Given the description of an element on the screen output the (x, y) to click on. 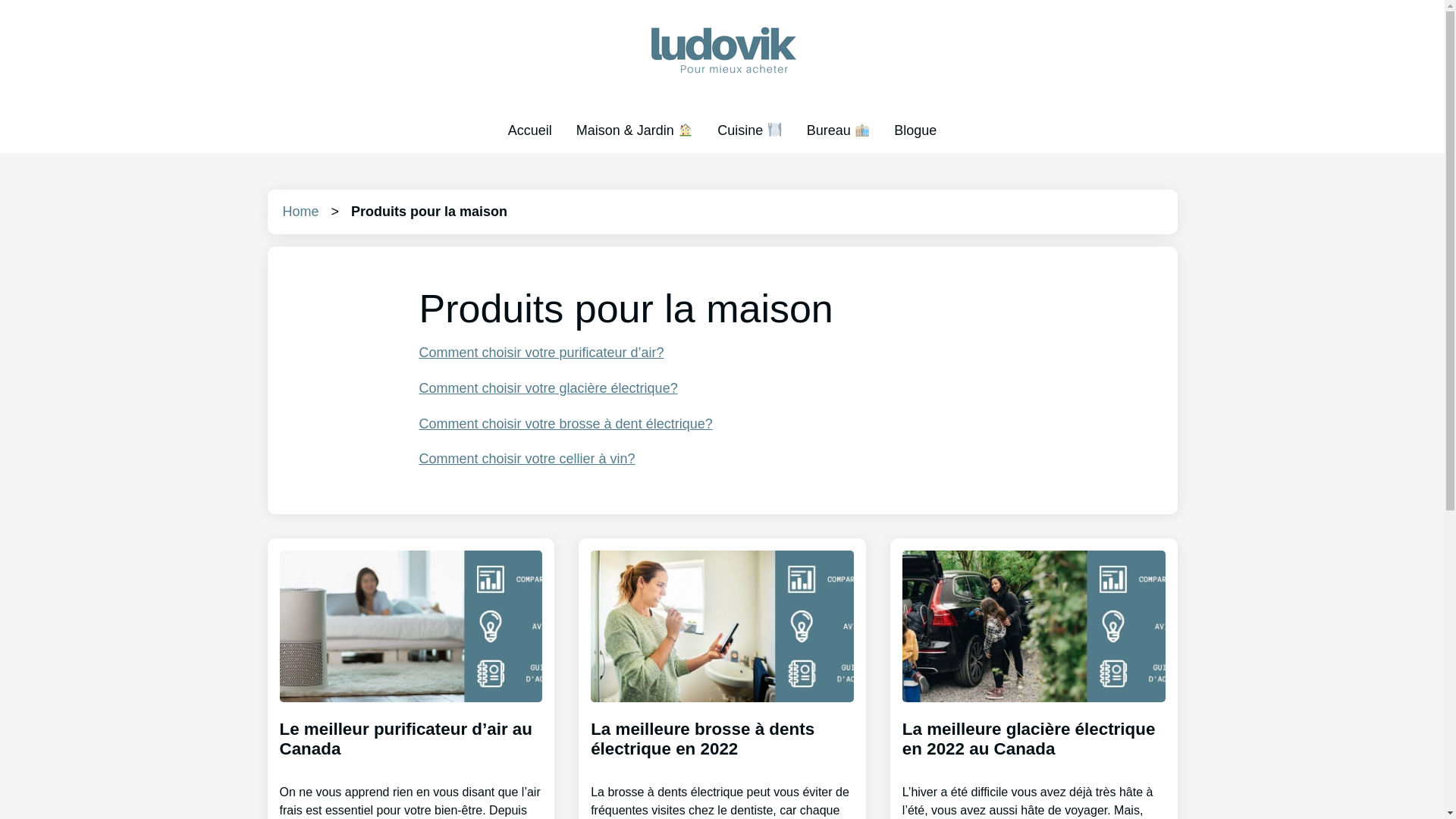
Accueil Element type: text (530, 130)
Bureau Element type: text (838, 130)
Maison & Jardin Element type: text (634, 130)
Blogue Element type: text (915, 130)
Cuisine Element type: text (749, 130)
Home Element type: text (300, 211)
